Given the description of an element on the screen output the (x, y) to click on. 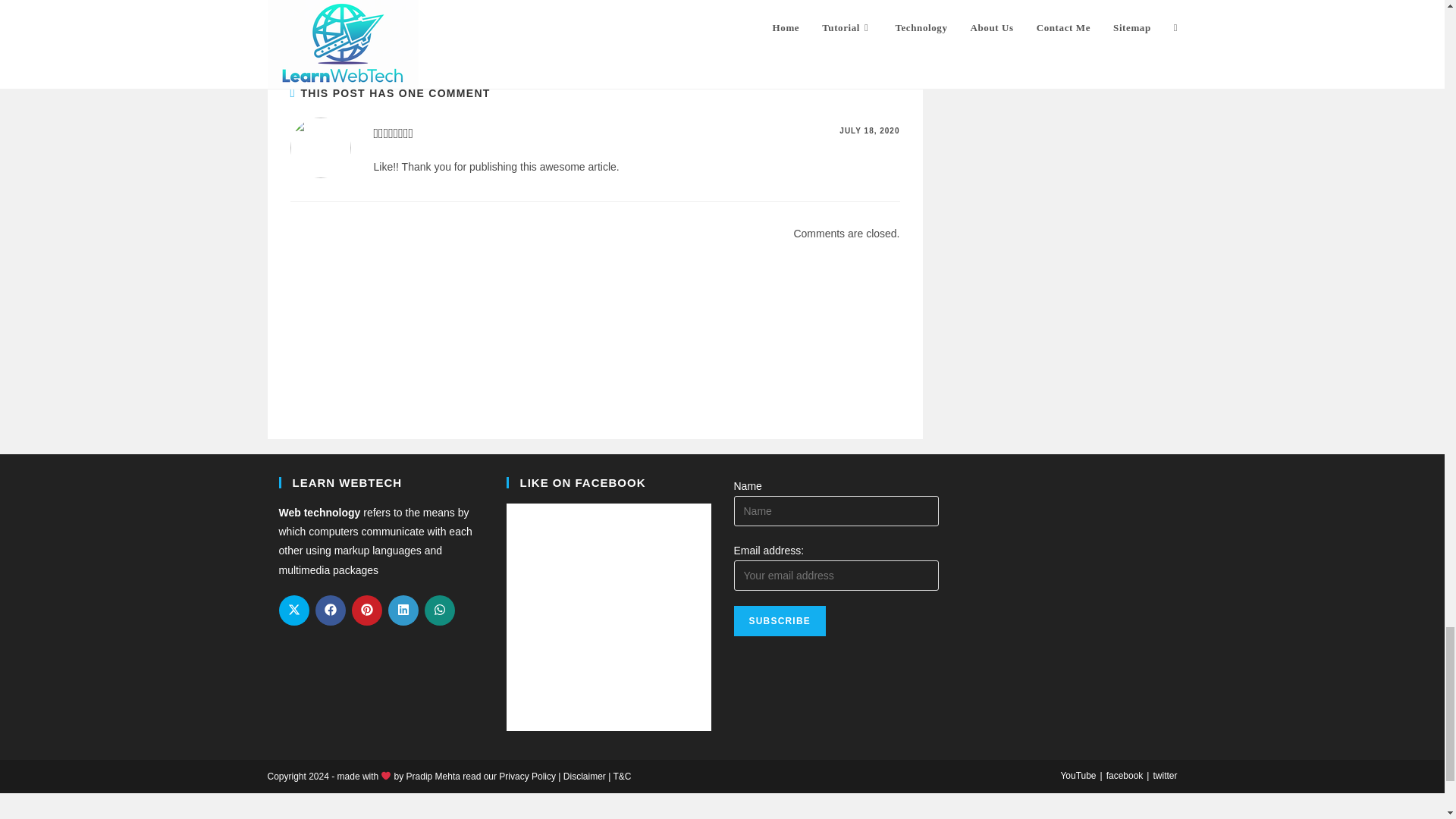
Share on Pinterest (366, 610)
Subscribe (779, 621)
Share on X (293, 610)
Share on Facebook (330, 610)
Share on LinkedIn (403, 610)
Share on WhatsApp (439, 610)
